Given the description of an element on the screen output the (x, y) to click on. 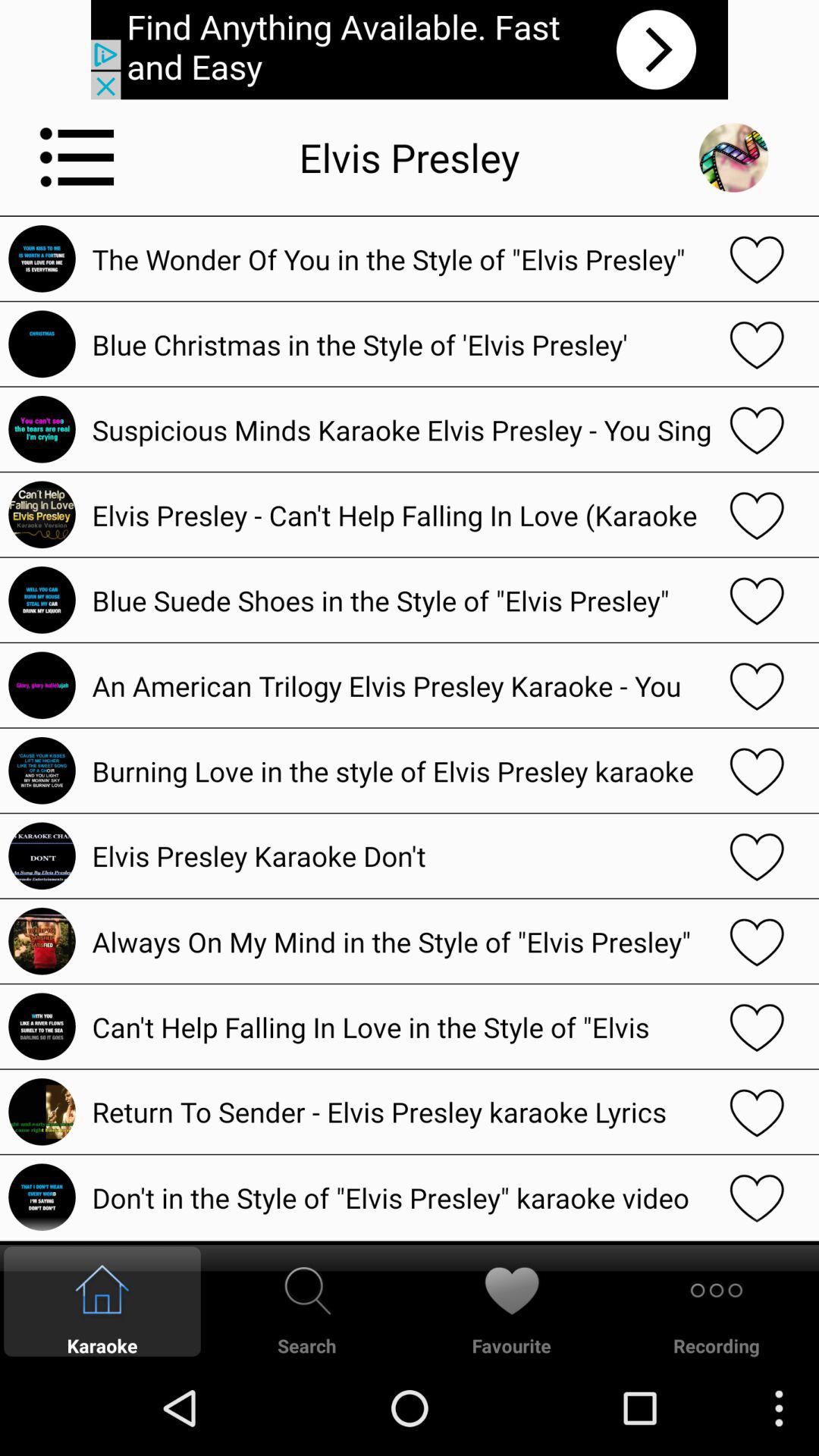
favorite song (756, 343)
